Given the description of an element on the screen output the (x, y) to click on. 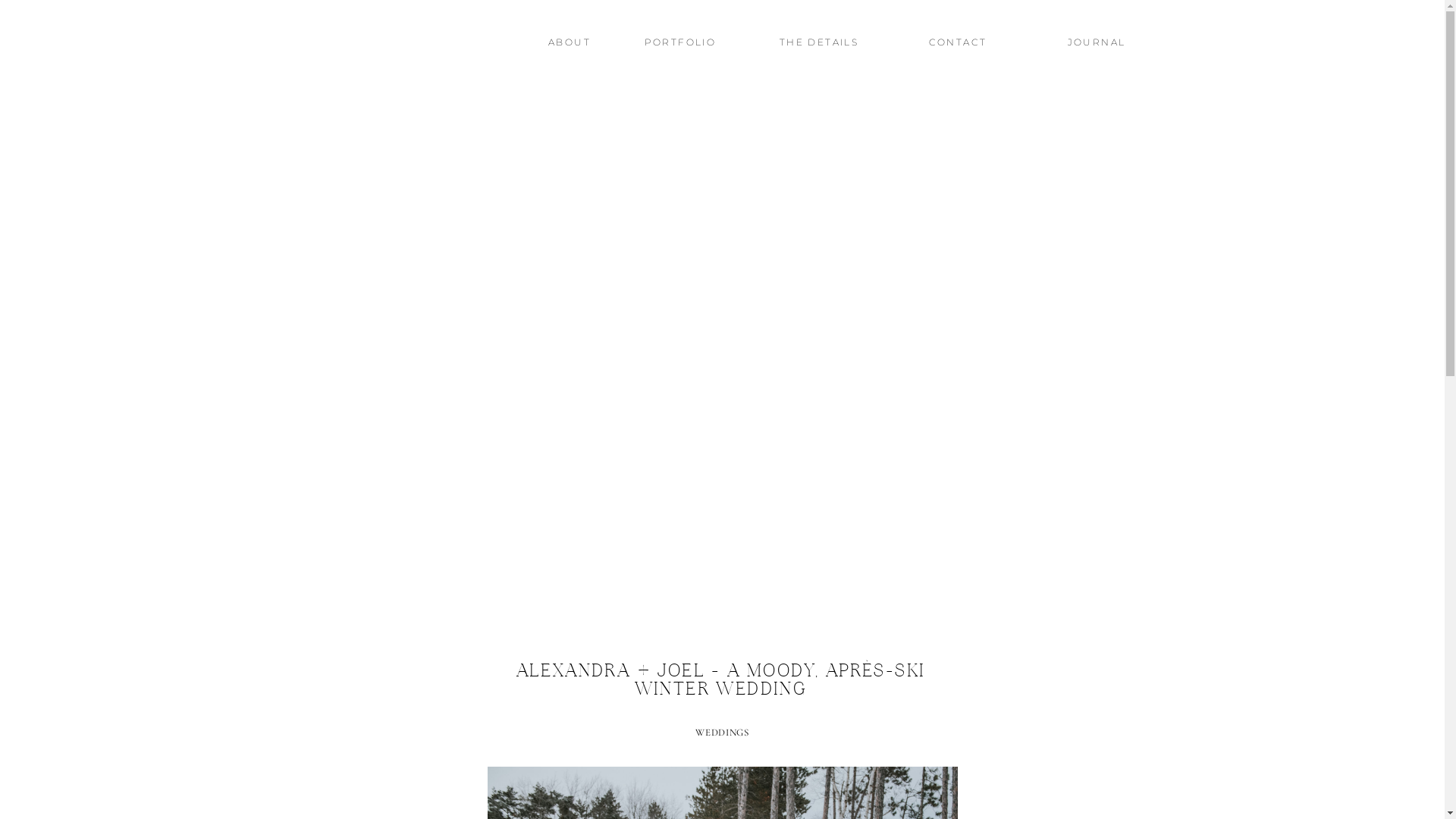
THE DETAILS Element type: text (818, 45)
ABOUT Element type: text (569, 45)
CONTACT Element type: text (957, 45)
JOURNAL Element type: text (1095, 45)
PORTFOLIO Element type: text (680, 45)
WEDDINGS Element type: text (721, 732)
